Given the description of an element on the screen output the (x, y) to click on. 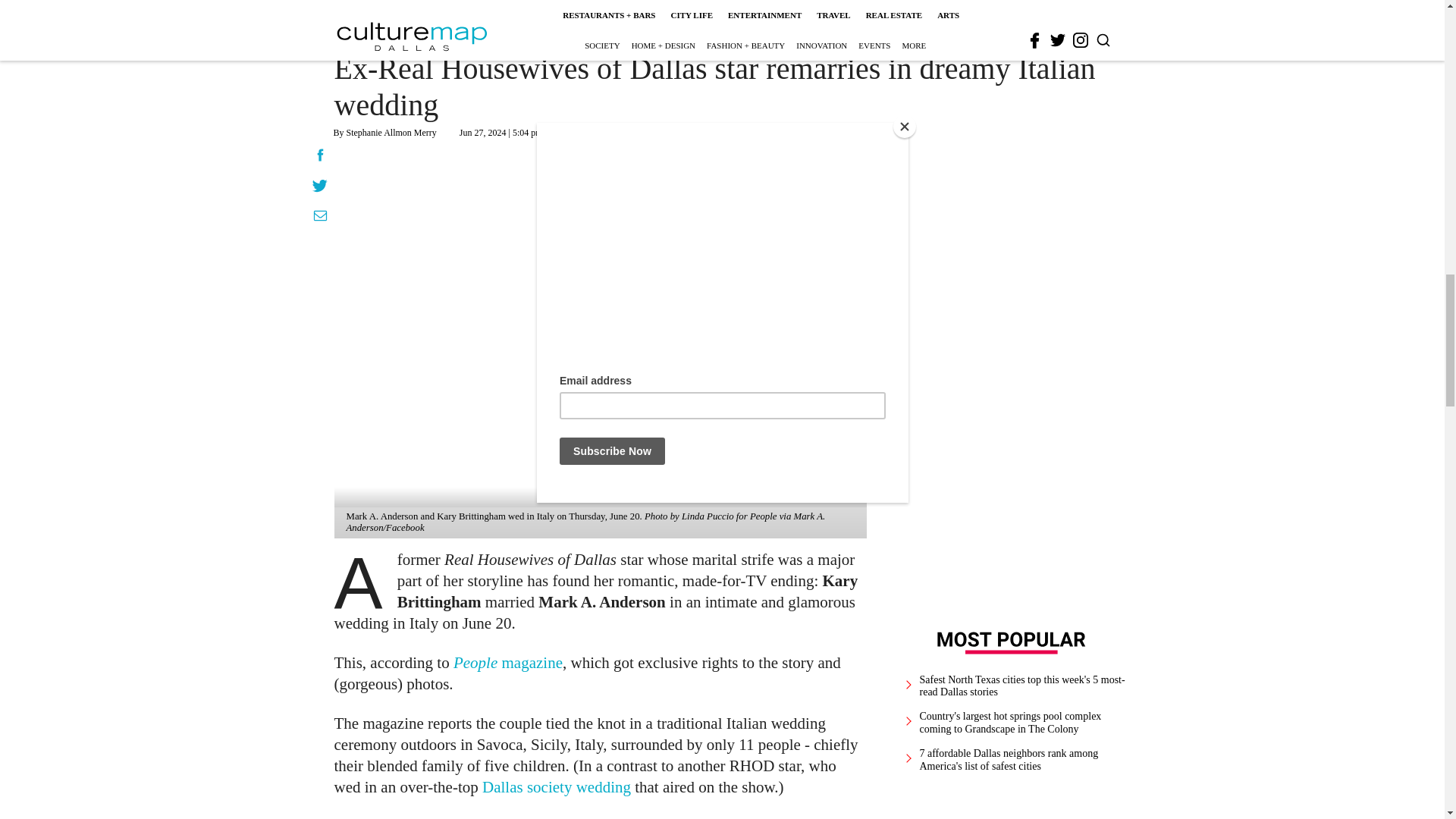
3rd party ad content (600, 817)
3rd party ad content (1011, 365)
